Given the description of an element on the screen output the (x, y) to click on. 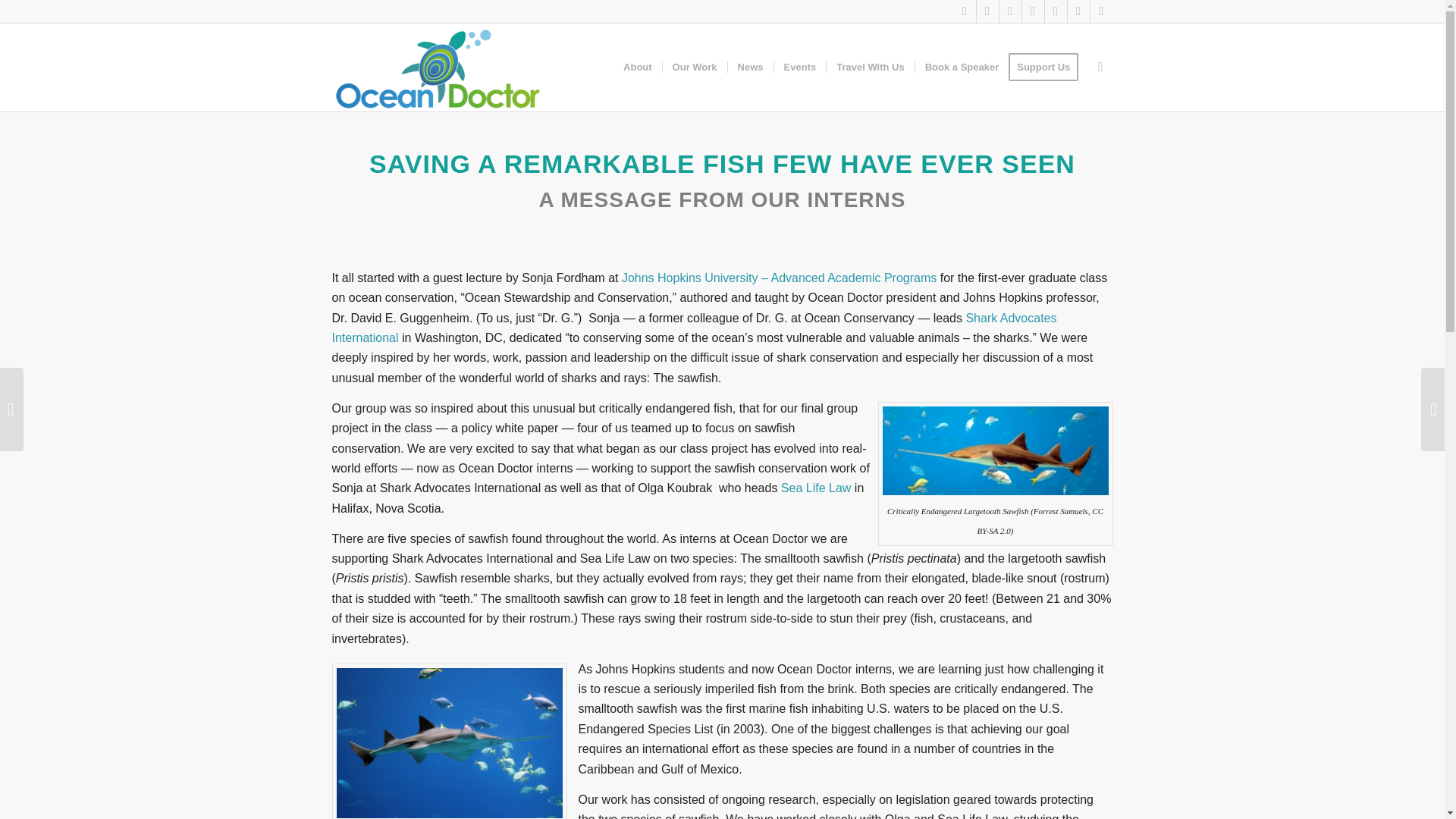
Youtube (1032, 11)
Rss (1101, 11)
X (964, 11)
Instagram (1056, 11)
Pinterest (1078, 11)
Facebook (987, 11)
LinkedIn (1010, 11)
